Given the description of an element on the screen output the (x, y) to click on. 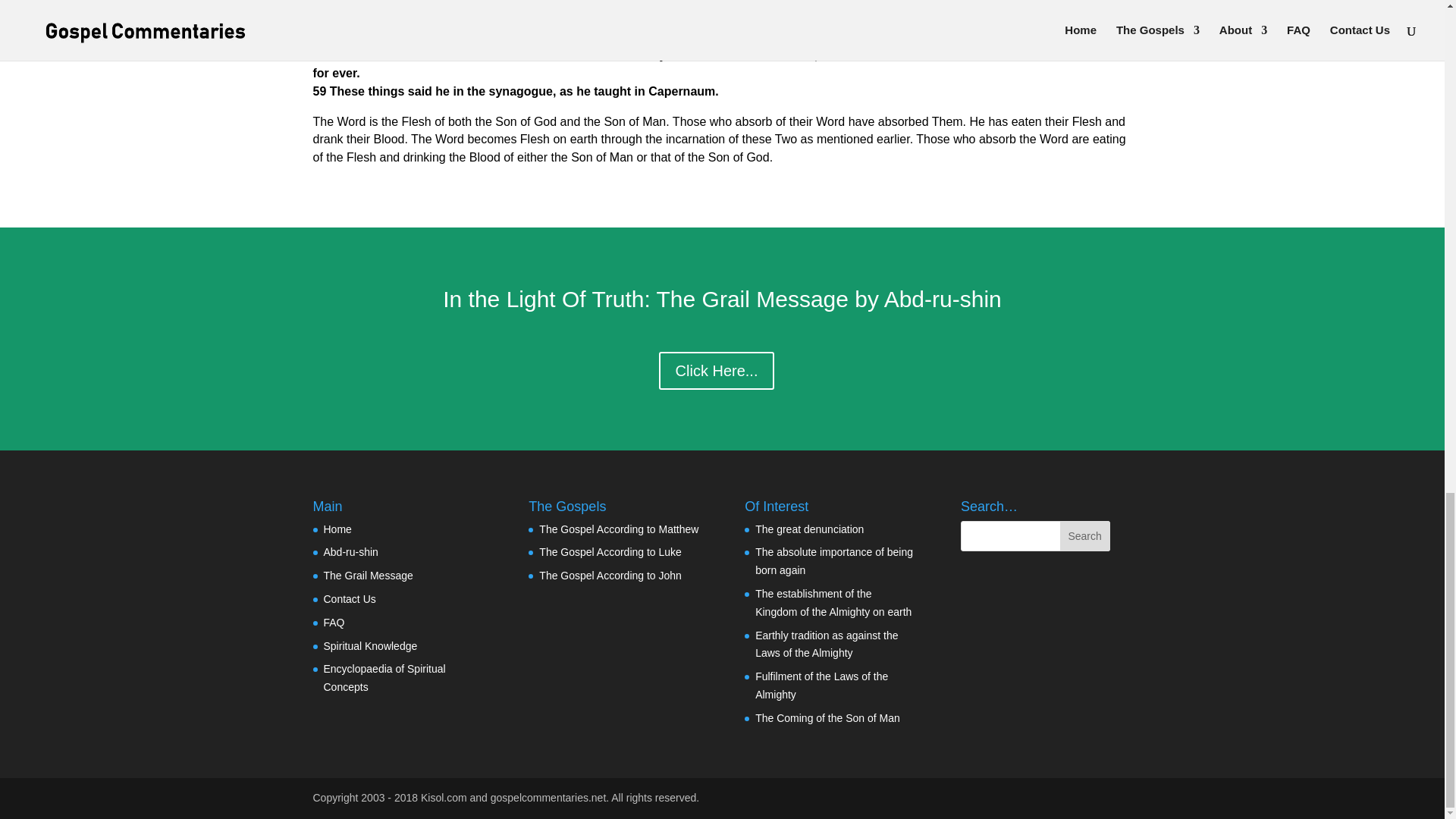
Encyclopaedia of Spiritual Concepts (384, 677)
Abd-ru-shin (350, 551)
The absolute importance of being born again (833, 561)
FAQ (333, 622)
Home (336, 529)
The Gospel According to Luke (609, 551)
Search (1084, 535)
Fulfilment of the Laws of the Almighty (821, 685)
Click Here... (716, 370)
The Gospel According to John (609, 575)
The Gospel According to Matthew (618, 529)
Search (1084, 535)
The establishment of the Kingdom of the Almighty on earth (833, 603)
Earthly tradition as against the Laws of the Almighty (826, 644)
The Grail Message (367, 575)
